Given the description of an element on the screen output the (x, y) to click on. 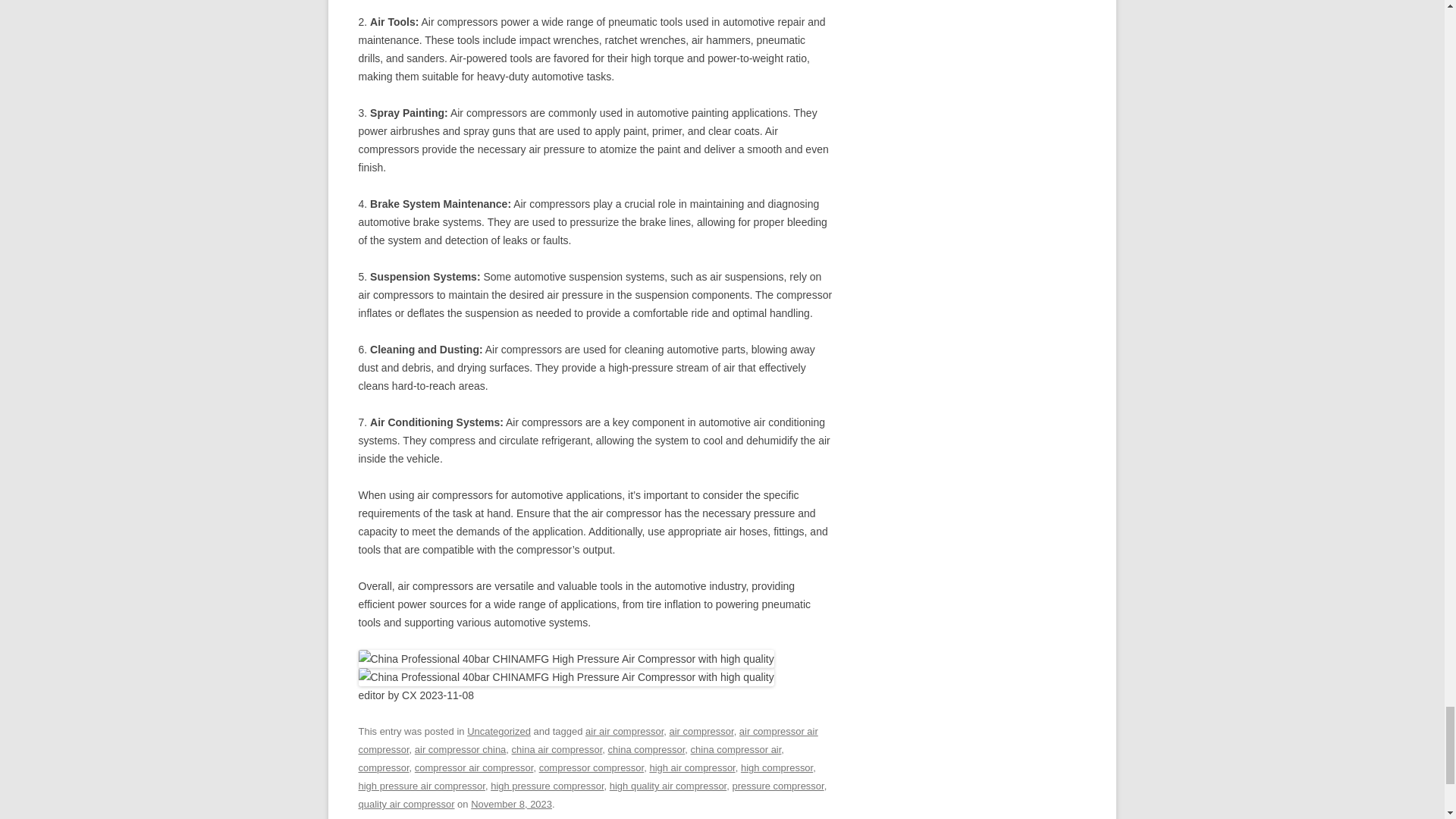
compressor air compressor (474, 767)
pressure compressor (778, 785)
November 8, 2023 (510, 803)
china air compressor (557, 749)
china compressor (646, 749)
high quality air compressor (668, 785)
china compressor air (735, 749)
air compressor air compressor (587, 740)
high pressure compressor (547, 785)
Uncategorized (499, 731)
compressor (383, 767)
high pressure air compressor (421, 785)
compressor compressor (591, 767)
8:18 am (510, 803)
high air compressor (692, 767)
